Given the description of an element on the screen output the (x, y) to click on. 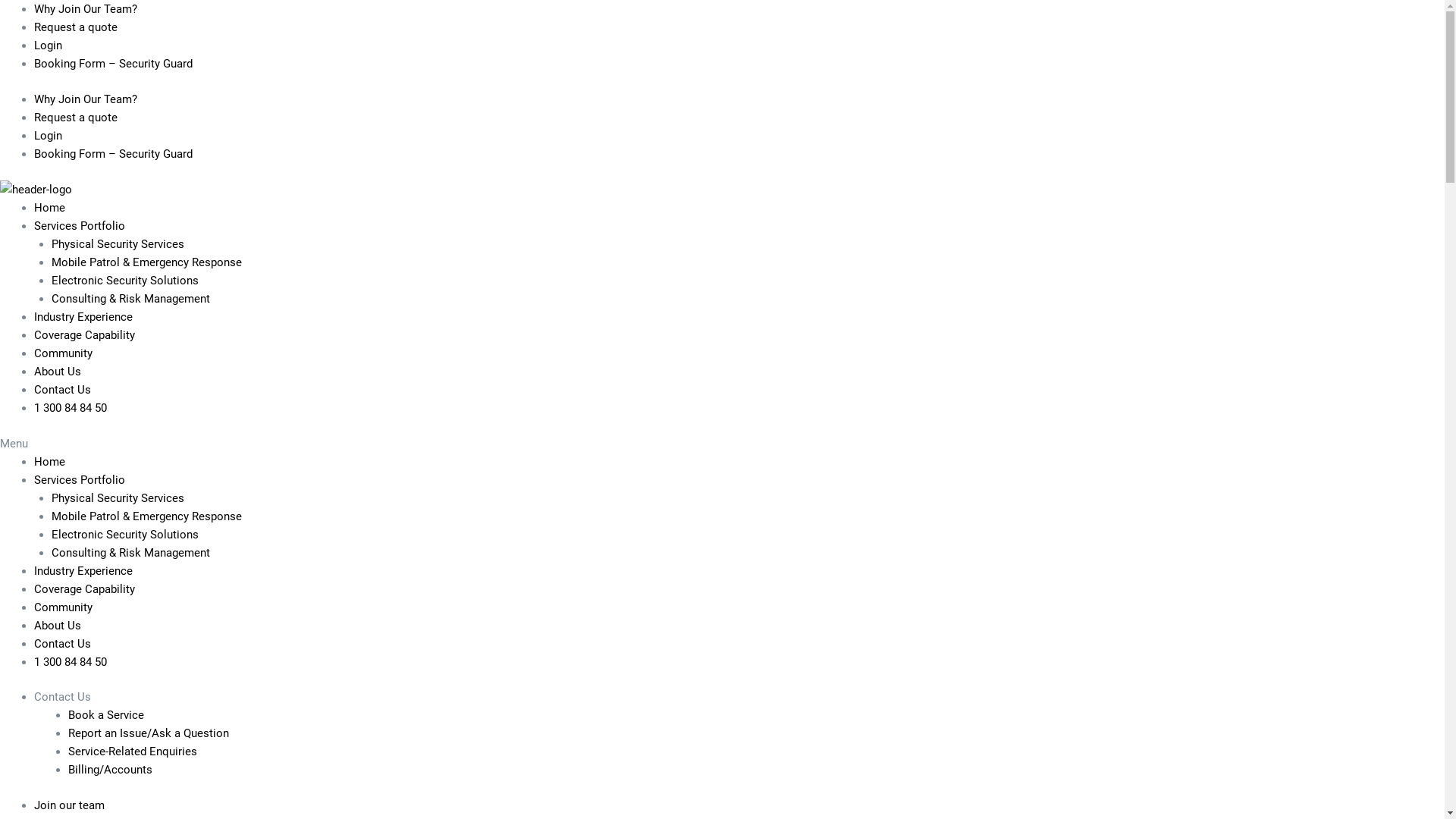
Service-Related Enquiries Element type: text (132, 751)
Consulting & Risk Management Element type: text (130, 298)
Physical Security Services Element type: text (117, 498)
Why Join Our Team? Element type: text (85, 8)
Contact Us Element type: text (62, 643)
Request a quote Element type: text (75, 117)
Physical Security Services Element type: text (117, 244)
About Us Element type: text (57, 625)
Contact Us Element type: text (62, 389)
Mobile Patrol & Emergency Response Element type: text (146, 516)
1 300 84 84 50 Element type: text (70, 661)
About Us Element type: text (57, 371)
Join our team Element type: text (69, 805)
Login Element type: text (48, 45)
Login Element type: text (48, 135)
Mobile Patrol & Emergency Response Element type: text (146, 262)
Book a Service Element type: text (106, 714)
Coverage Capability Element type: text (84, 589)
Electronic Security Solutions Element type: text (124, 280)
Consulting & Risk Management Element type: text (130, 552)
Services Portfolio Element type: text (79, 225)
Services Portfolio Element type: text (79, 479)
Electronic Security Solutions Element type: text (124, 534)
Industry Experience Element type: text (83, 316)
Coverage Capability Element type: text (84, 335)
Community Element type: text (63, 607)
Home Element type: text (49, 461)
Home Element type: text (49, 207)
Billing/Accounts Element type: text (110, 769)
1 300 84 84 50 Element type: text (70, 407)
Industry Experience Element type: text (83, 570)
Request a quote Element type: text (75, 27)
Community Element type: text (63, 353)
Why Join Our Team? Element type: text (85, 99)
Report an Issue/Ask a Question Element type: text (148, 733)
